Given the description of an element on the screen output the (x, y) to click on. 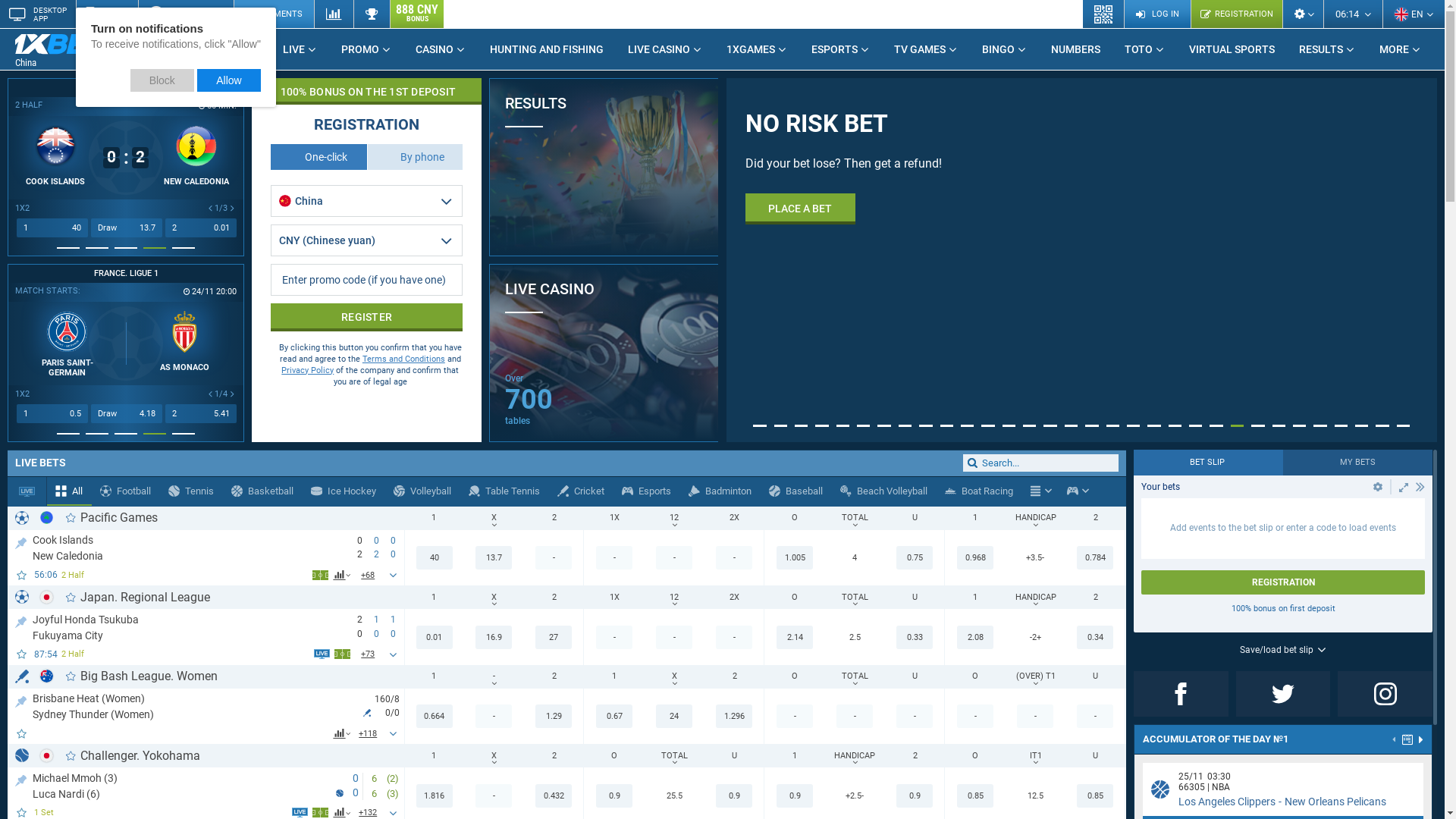
100% bonus on first deposit Element type: text (1283, 608)
TOP Element type: hover (20, 540)
Badminton Element type: text (720, 490)
One-click Element type: text (318, 156)
BANGLADESH. DIVISION 2 Element type: text (360, 87)
MORE Element type: text (1400, 48)
Add event to favorites Element type: hover (22, 653)
China Element type: text (71, 49)
Volleyball Element type: text (422, 490)
Draw
16.1 Element type: text (126, 227)
Ice Hockey Element type: text (343, 490)
1xBet - the official partner of PSG Element type: hover (370, 260)
Terms and Conditions Element type: text (403, 359)
NEW Element type: text (124, 42)
By phone Element type: text (415, 156)
Results Element type: hover (371, 14)
Esports menu Element type: hover (1077, 490)
TOP Element type: hover (20, 618)
Los Angeles ClippersNew Orleans Pelicans Element type: text (1282, 801)
GAMES
Over
100
games Element type: text (718, 397)
1xBet Betting Company Element type: hover (60, 43)
PROMO Element type: text (366, 48)
Big Bash League. Women Element type: text (148, 675)
LIVE CASINO Element type: text (664, 48)
Beach Volleyball Element type: text (883, 490)
TV GAMES Element type: text (925, 48)
888 CNY
BONUS Element type: text (416, 14)
Settings Element type: hover (1302, 14)
Brisbane Heat (Women)
Sydney Thunder (Women) Element type: text (197, 705)
Menu Element type: hover (1035, 490)
LIVE CASINO
Over
700
tables Element type: text (603, 352)
Basketball Element type: text (262, 490)
BET NOW Element type: text (790, 280)
ENGLAND. PREMIER LEAGUE Element type: text (125, 273)
TOTO Element type: text (1144, 48)
VIRTUAL SPORTS Element type: text (1231, 48)
Cook Islands
New Caledonia Element type: text (187, 547)
+118 Element type: text (367, 732)
Add event to favorites Element type: hover (22, 733)
Statistics Element type: hover (333, 14)
BINGO Element type: text (1003, 48)
Joyful Honda Tsukuba
Fukuyama City Element type: text (187, 625)
Save/load bet slip Element type: text (1282, 649)
1XGAMES Element type: text (756, 48)
REGISTRATION Element type: text (1282, 582)
Show streaming games Element type: hover (26, 491)
SPORTS Element type: text (232, 48)
Challenger. Yokohama Element type: text (140, 755)
ESPORTS Element type: text (840, 48)
Next accumulator Element type: hover (1420, 739)
Draw
3.45 Element type: text (126, 413)
Sports menu Element type: hover (1040, 490)
REGISTRATION Element type: text (1236, 14)
All Element type: text (69, 490)
SPAIN. LA LIGA Element type: text (360, 273)
HUNTING AND FISHING Element type: text (546, 48)
Promo code Element type: hover (366, 279)
Cricket Element type: text (581, 490)
RESULTS Element type: text (603, 167)
Open Element type: hover (1377, 486)
Japan Element type: hover (46, 596)
2
30 Element type: text (200, 227)
QR code login Element type: hover (1103, 14)
Previous accumulator Element type: hover (1394, 740)
Tennis Element type: text (191, 490)
TOP Element type: hover (20, 698)
BET SLIP Element type: text (1208, 462)
Show video stream Element type: hover (321, 653)
+76 Element type: text (367, 654)
Japan Element type: hover (46, 755)
Show video stream Element type: hover (299, 812)
Allow Element type: text (228, 80)
Show 1xZone Element type: hover (320, 812)
Football Element type: text (125, 490)
Boat Racing Element type: text (979, 490)
MY BETS Element type: text (1357, 462)
Add event to favorites Element type: hover (22, 812)
Collapse block/Expand block Element type: hover (1419, 486)
Michael Mmoh (3)
Luca Nardi (6) Element type: text (183, 784)
Japan. Regional League Element type: text (145, 596)
100%
BONUS ON THE 1ST DEPOSIT Element type: text (366, 91)
CASINO
Over
15000
games Element type: text (718, 211)
Show 1xZone Element type: hover (320, 575)
MOBILE
APP Element type: text (106, 14)
JAPAN. REGIONAL LEAGUE Element type: text (125, 87)
Collapse/Expand Element type: hover (1403, 486)
BETS
VIA TELEGRAM Element type: text (185, 14)
Esports Element type: text (646, 490)
TOP Element type: hover (20, 777)
Pacific Games Element type: text (118, 517)
2
3.55 Element type: text (200, 413)
Australia Element type: hover (46, 675)
CASINO Element type: text (440, 48)
NUMBERS Element type: text (1075, 48)
Privacy Policy Element type: text (307, 370)
1
0.751 Element type: text (51, 413)
Esports Element type: hover (1072, 490)
Table Tennis Element type: text (504, 490)
Add event to favorites Element type: hover (22, 575)
LIVE Element type: text (299, 48)
1
0.01 Element type: text (51, 227)
Show 1xZone Element type: hover (342, 653)
Baseball Element type: text (795, 490)
PAYMENTS Element type: text (273, 14)
World Element type: hover (46, 517)
+68 Element type: text (367, 574)
RESULTS Element type: text (1326, 48)
Block Element type: text (162, 80)
DESKTOP
APP Element type: text (37, 14)
